Given the description of an element on the screen output the (x, y) to click on. 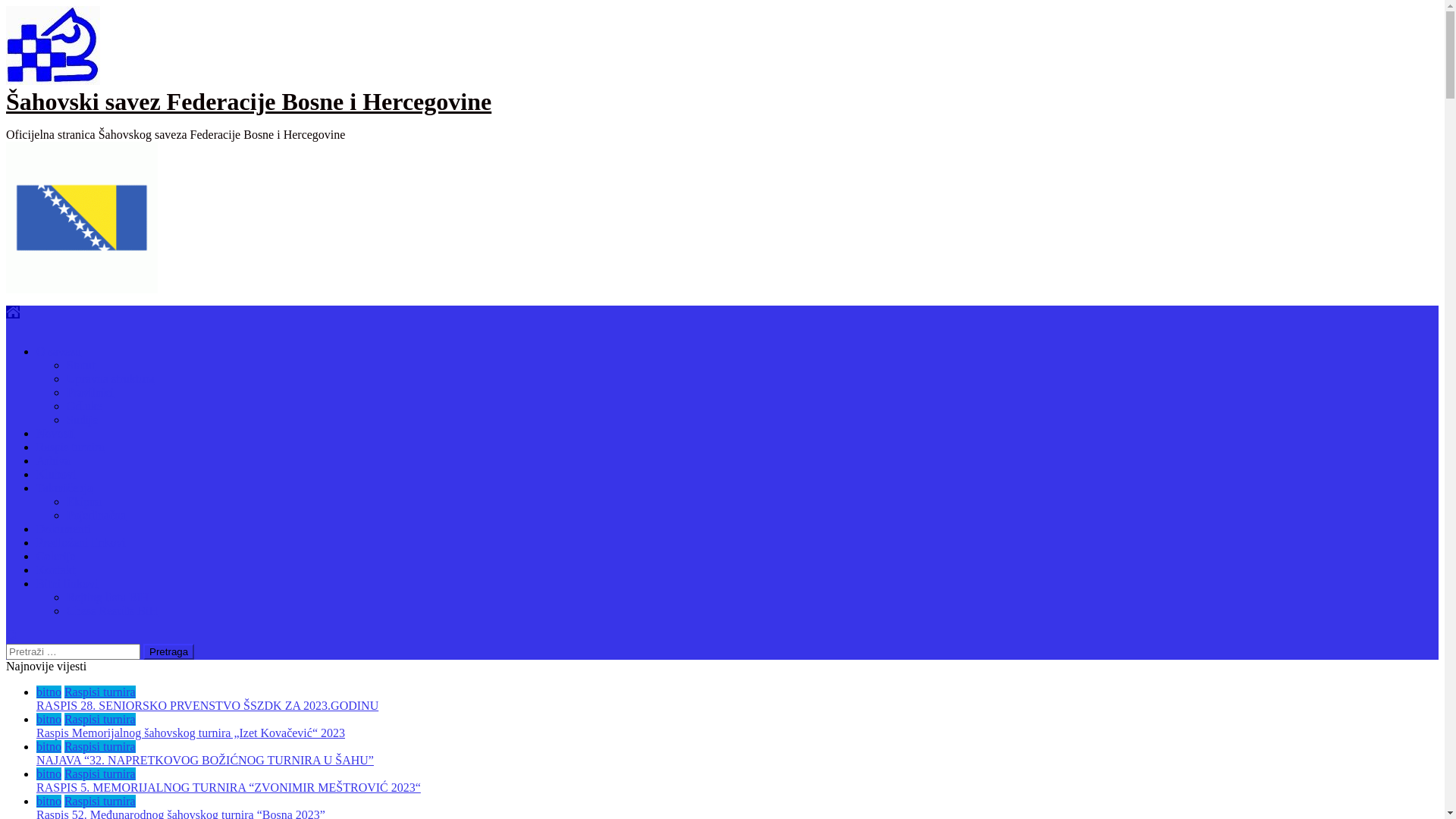
Pretraga Element type: text (168, 651)
Raspisi turnira Element type: text (99, 691)
Raspisi turnira Element type: text (99, 718)
bitno Element type: text (48, 746)
Bitni linkovi Element type: text (66, 583)
Upravna struktura Element type: text (110, 378)
bitno Element type: text (48, 773)
Raspis turnira Element type: text (69, 446)
Odluke Element type: text (84, 405)
Klubovi Element type: text (55, 473)
Raspisi turnira Element type: text (99, 773)
bitno Element type: text (48, 691)
Statut Element type: text (80, 364)
Raspisi turnira Element type: text (99, 800)
Chess Results BiH Element type: text (111, 610)
Galerija Element type: text (55, 555)
Dokumenti Element type: text (63, 528)
O savezu Element type: text (58, 351)
Kontakt Element type: text (55, 569)
Raspisi turnira Element type: text (99, 746)
bitno Element type: text (48, 718)
Novosti Element type: text (55, 432)
Sudije Element type: text (81, 419)
Arhiva Element type: text (52, 460)
bitno Element type: text (48, 800)
Pravilnici Element type: text (89, 391)
Rejting lista BiH Element type: text (107, 596)
Ekipna Element type: text (83, 501)
